Given the description of an element on the screen output the (x, y) to click on. 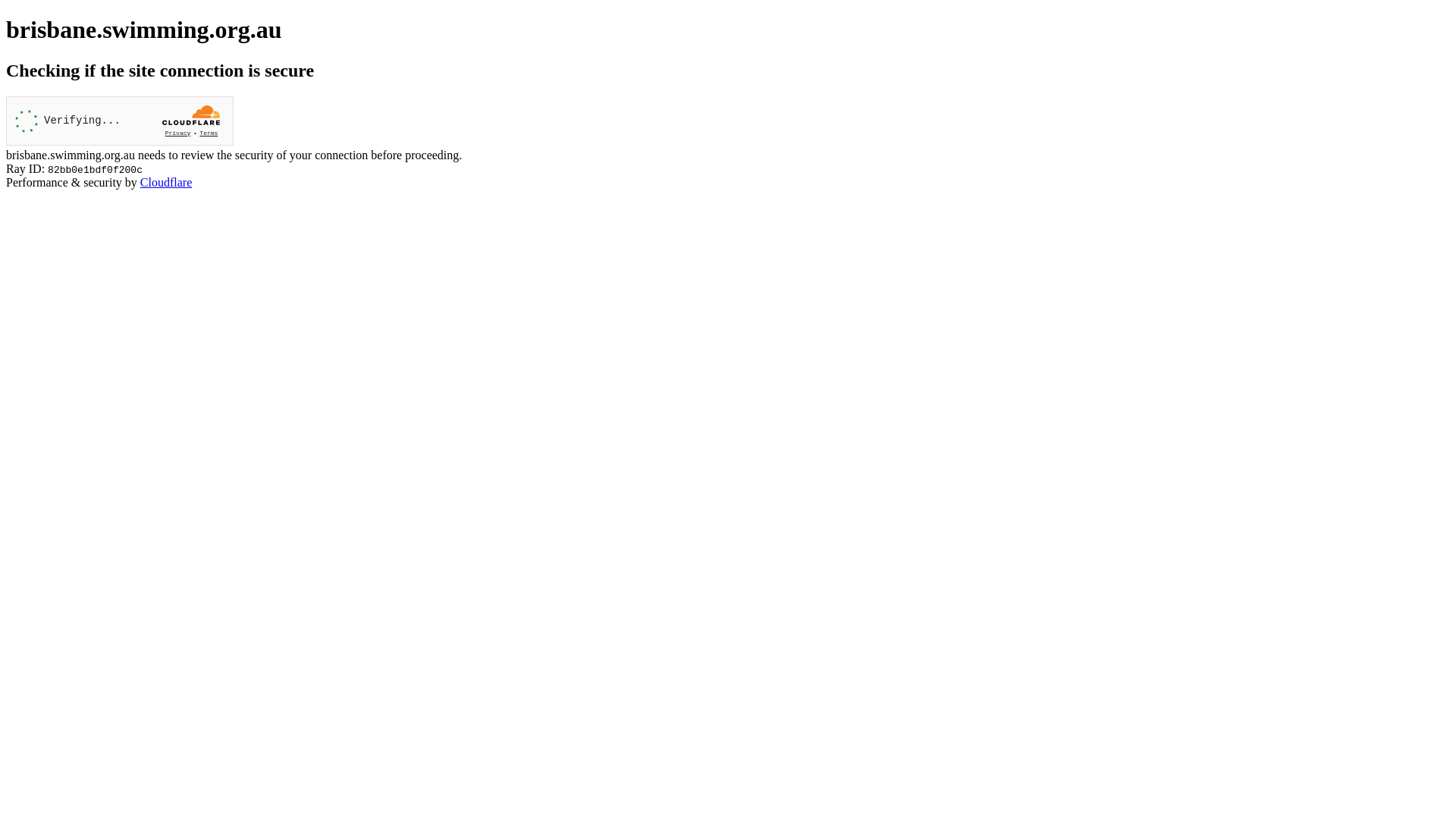
Cloudflare Element type: text (165, 181)
Widget containing a Cloudflare security challenge Element type: hover (119, 120)
